Given the description of an element on the screen output the (x, y) to click on. 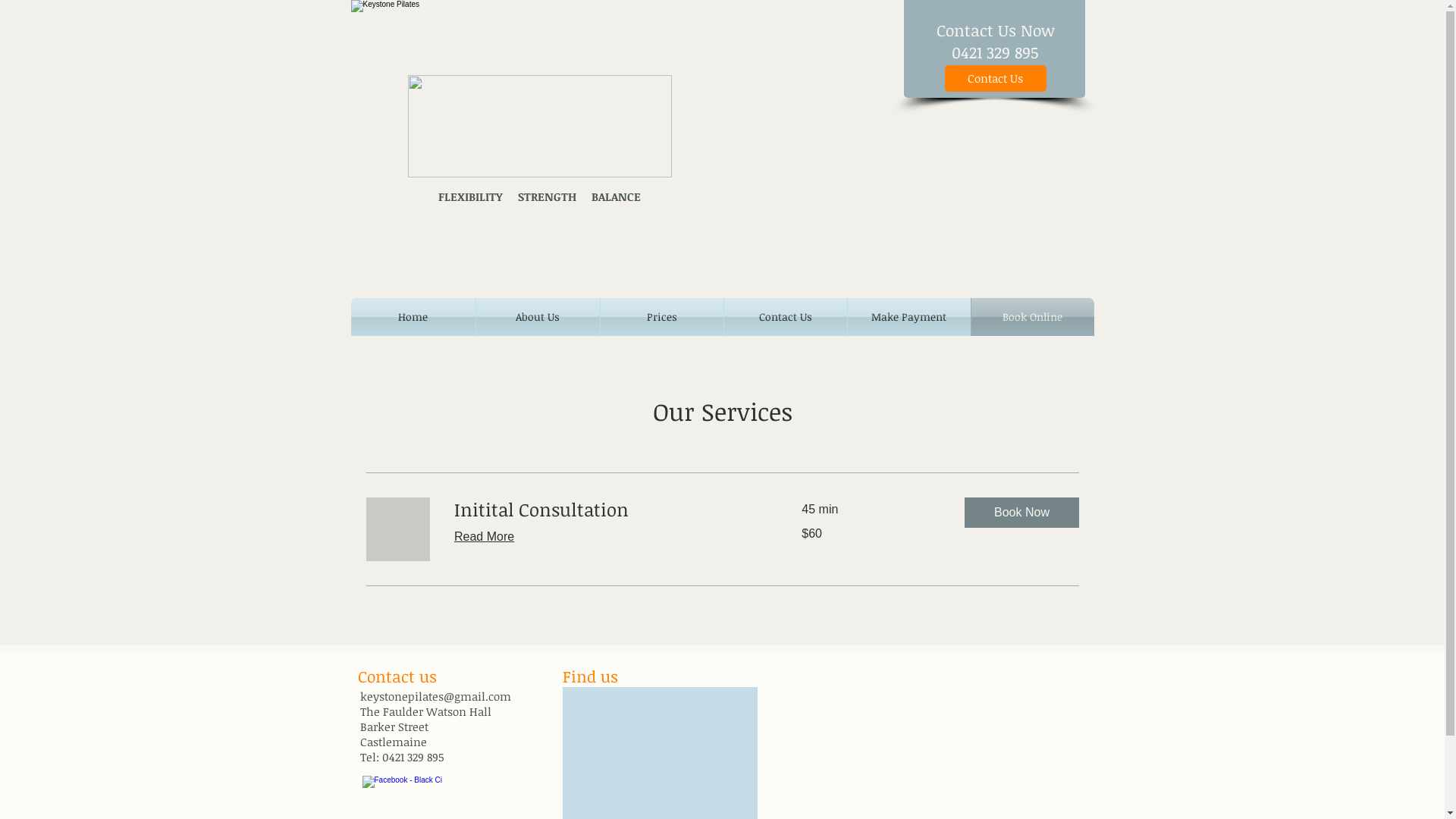
Book Now Element type: text (1021, 512)
Read More Element type: text (483, 536)
logo2.png Element type: hover (539, 126)
Contact Us Element type: text (995, 78)
Home Element type: text (412, 316)
Prices Element type: text (661, 316)
Initital Consultation Element type: text (608, 509)
About Us Element type: text (537, 316)
Keystone Pilates Element type: hover (721, 136)
Book Online Element type: text (1031, 316)
keystonepilates@gmail.com Element type: text (434, 695)
Make Payment Element type: text (908, 316)
